Given the description of an element on the screen output the (x, y) to click on. 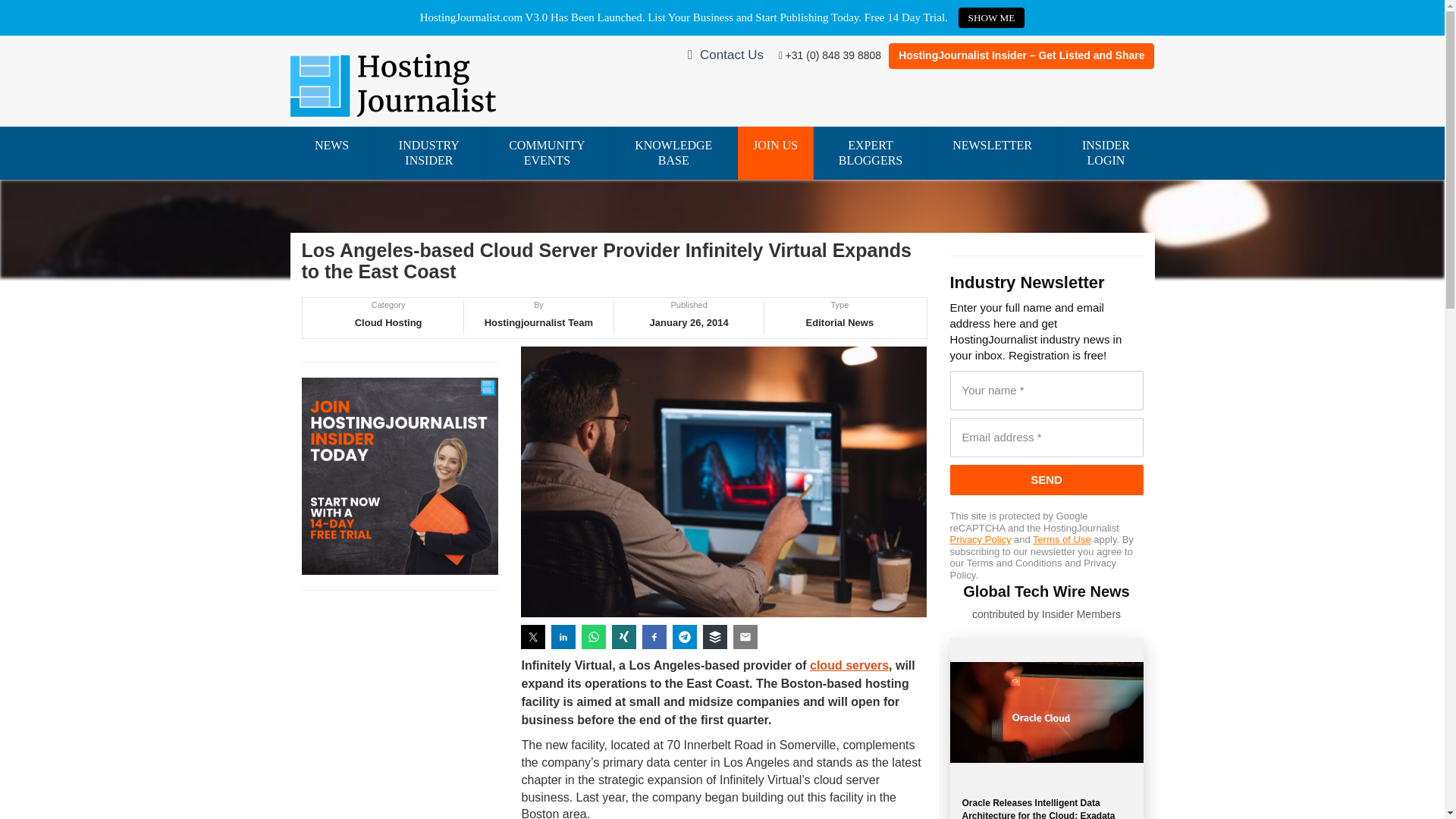
Contact Us (731, 54)
SHOW ME (991, 17)
HostingJournalist.com (392, 83)
